Given the description of an element on the screen output the (x, y) to click on. 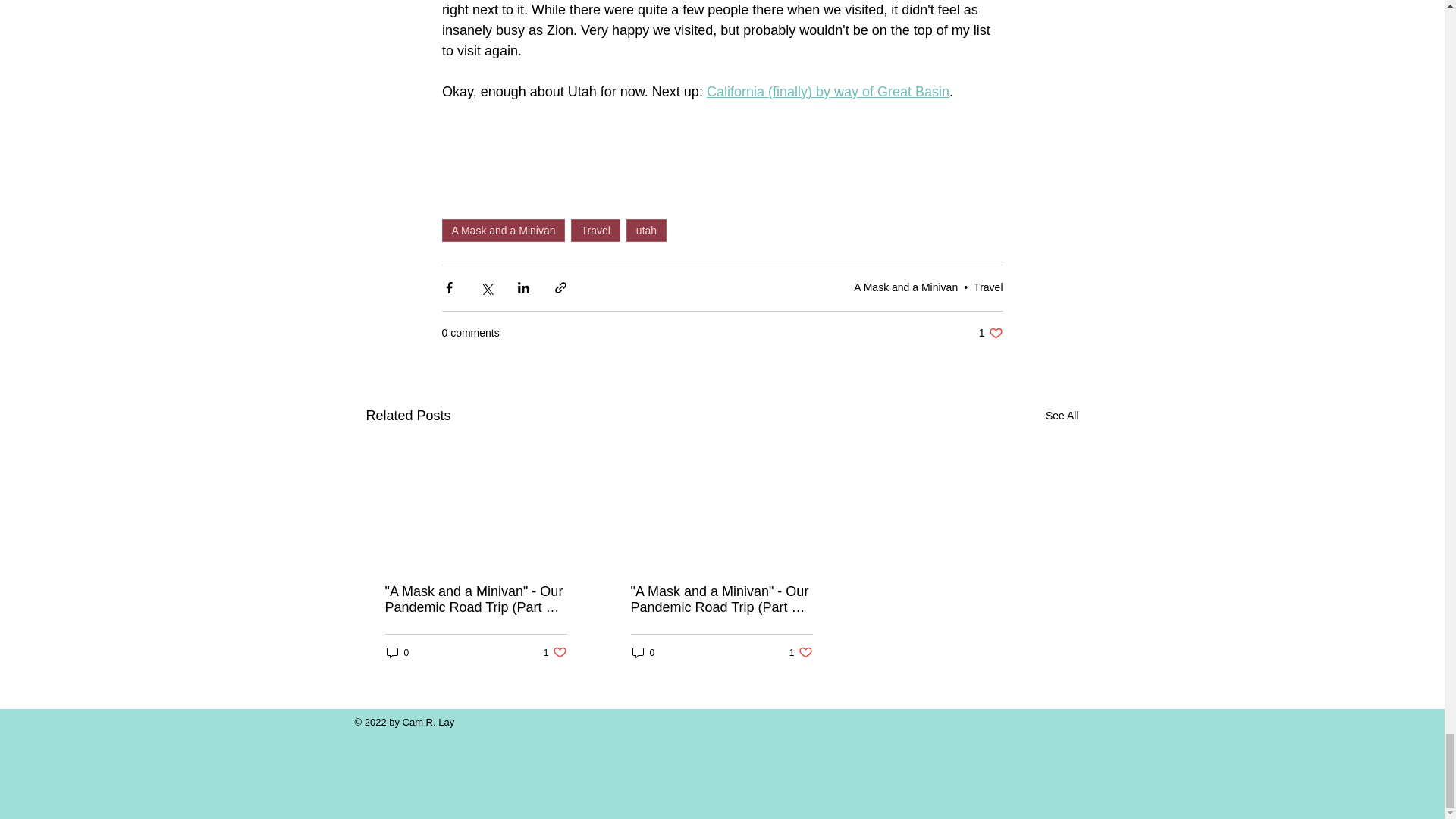
utah (646, 230)
A Mask and a Minivan (502, 230)
Travel (595, 230)
